Given the description of an element on the screen output the (x, y) to click on. 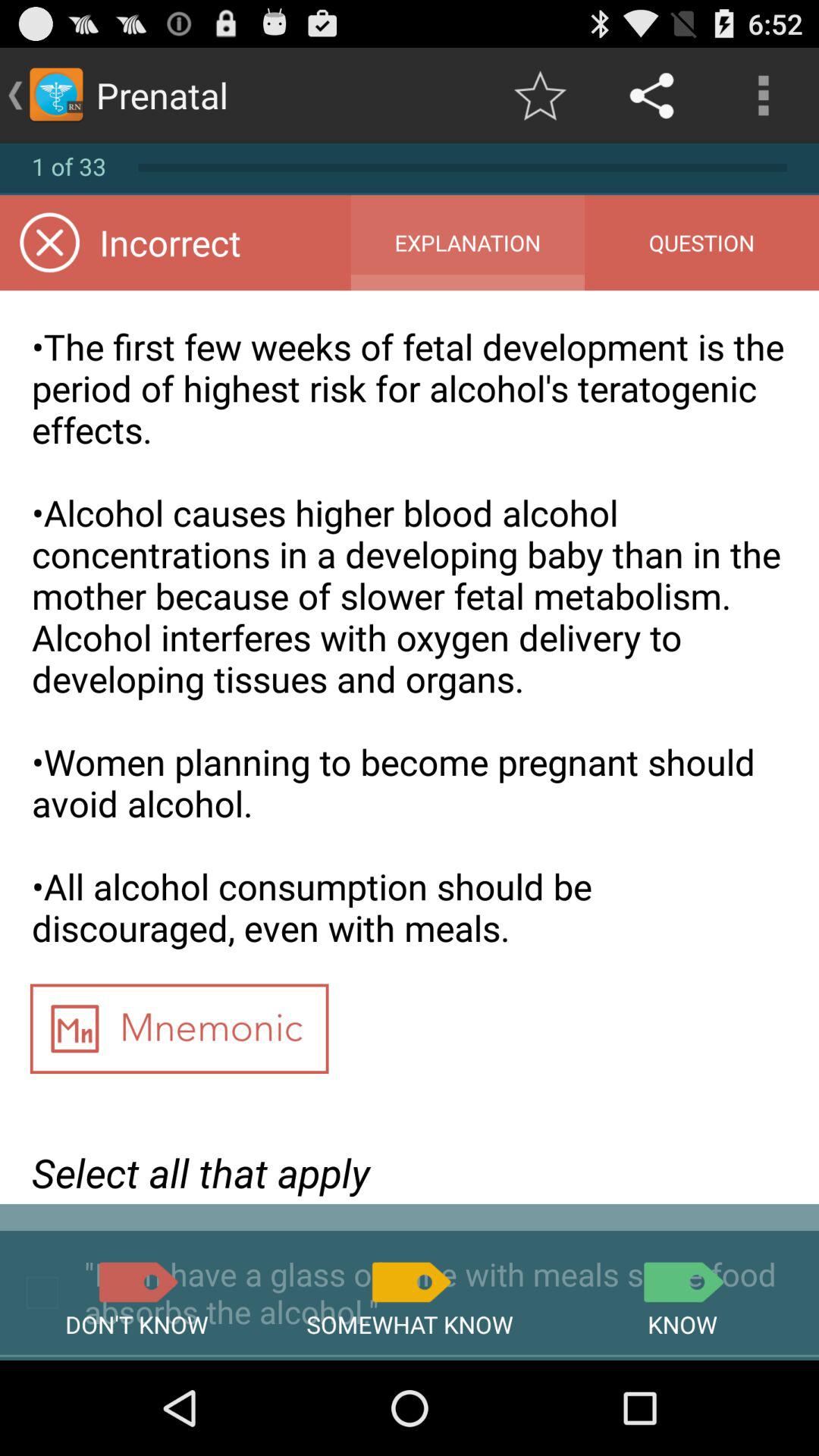
select app above the select all that app (179, 1033)
